Given the description of an element on the screen output the (x, y) to click on. 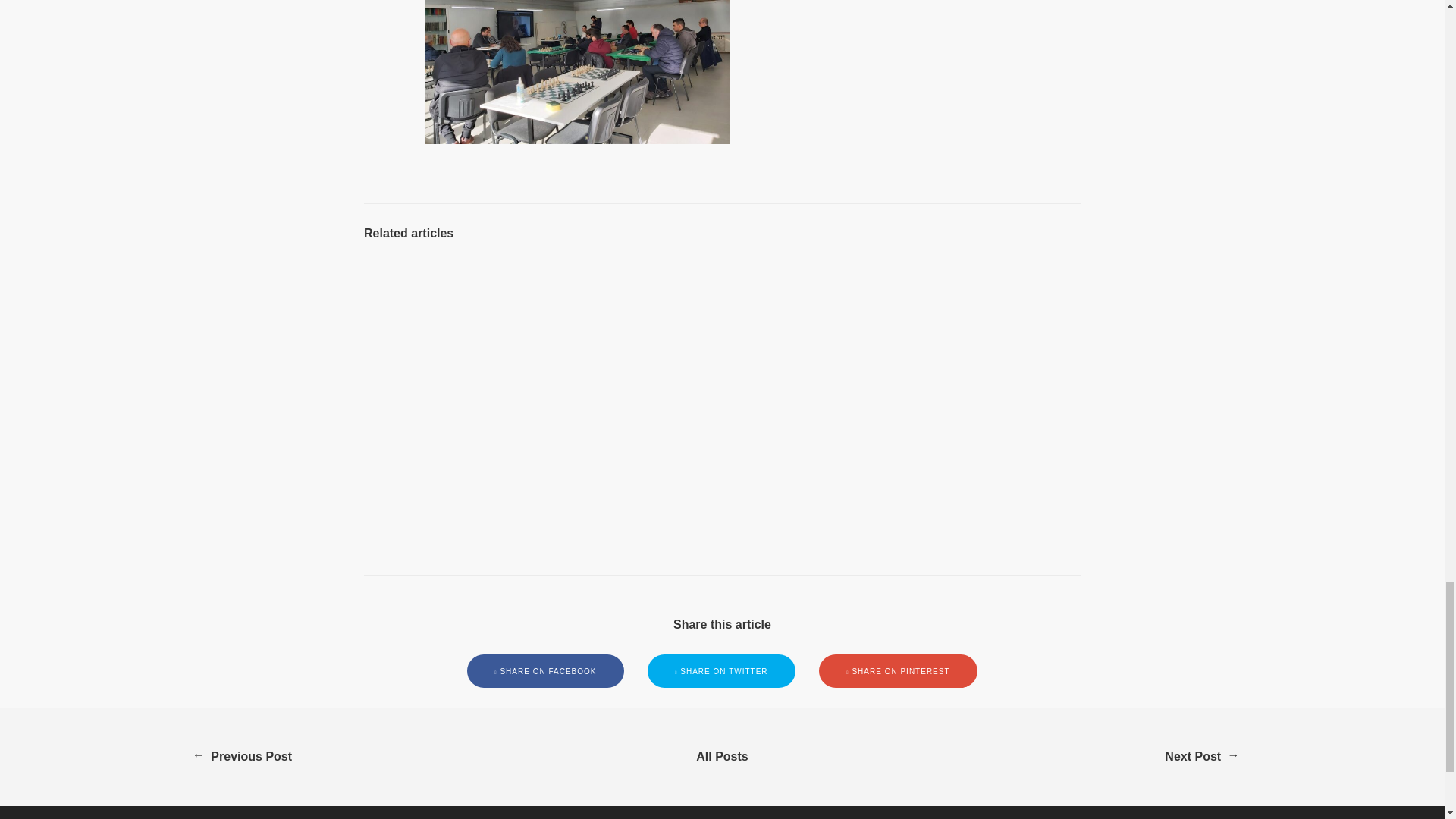
SHARE ON PINTEREST (898, 671)
All Posts (721, 756)
SHARE ON TWITTER (721, 671)
SHARE ON FACEBOOK (545, 671)
